Given the description of an element on the screen output the (x, y) to click on. 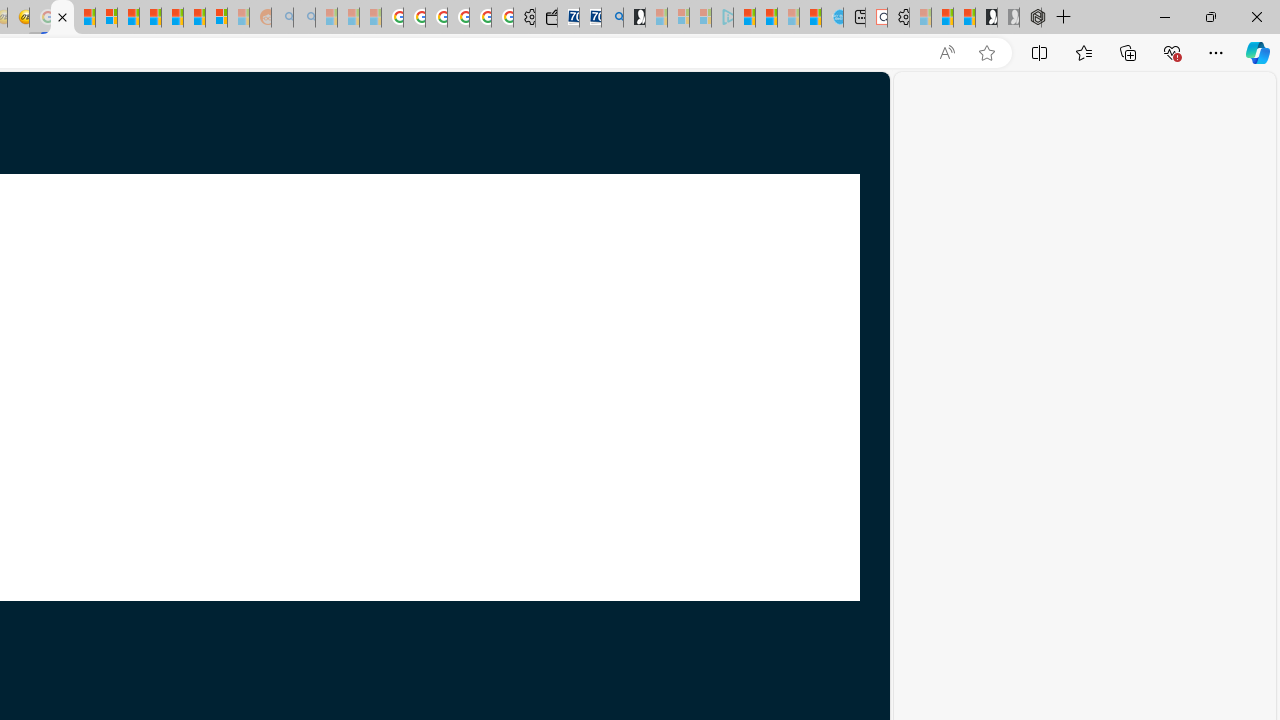
Home | Sky Blue Bikes - Sky Blue Bikes (832, 17)
Kinda Frugal - MSN (194, 17)
